Given the description of an element on the screen output the (x, y) to click on. 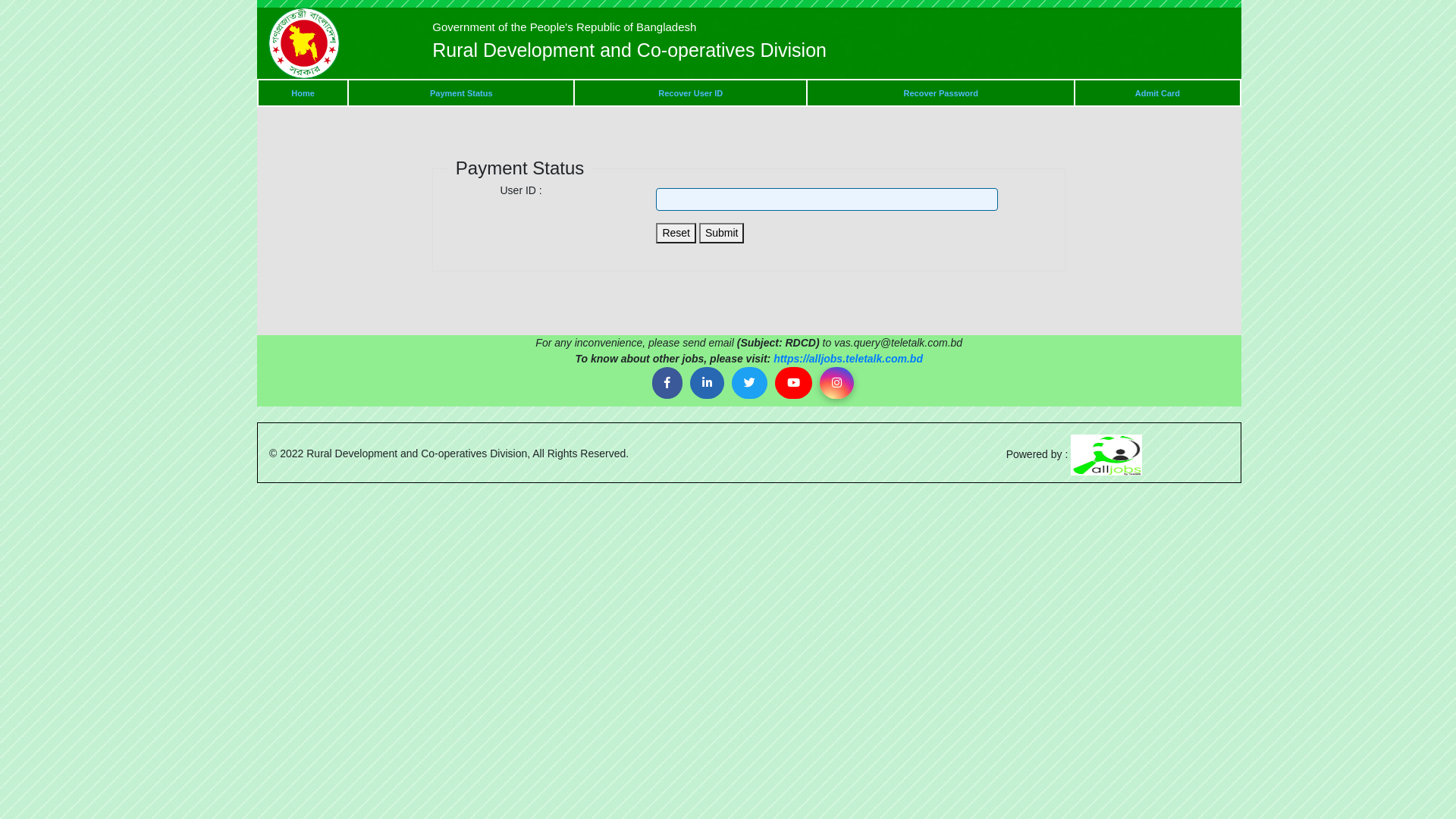
Youtube Element type: hover (793, 383)
Facebook Element type: hover (667, 383)
Submit Element type: text (721, 232)
Recover Password Element type: text (940, 92)
Recover User ID Element type: text (690, 92)
Admit Card Element type: text (1157, 92)
Home Element type: text (302, 92)
Payment Status Element type: text (460, 92)
https://alljobs.teletalk.com.bd Element type: text (847, 358)
Instagram Element type: hover (836, 383)
Linkedin Element type: hover (707, 383)
Reset Element type: text (675, 232)
Twitter Element type: hover (749, 383)
